Given the description of an element on the screen output the (x, y) to click on. 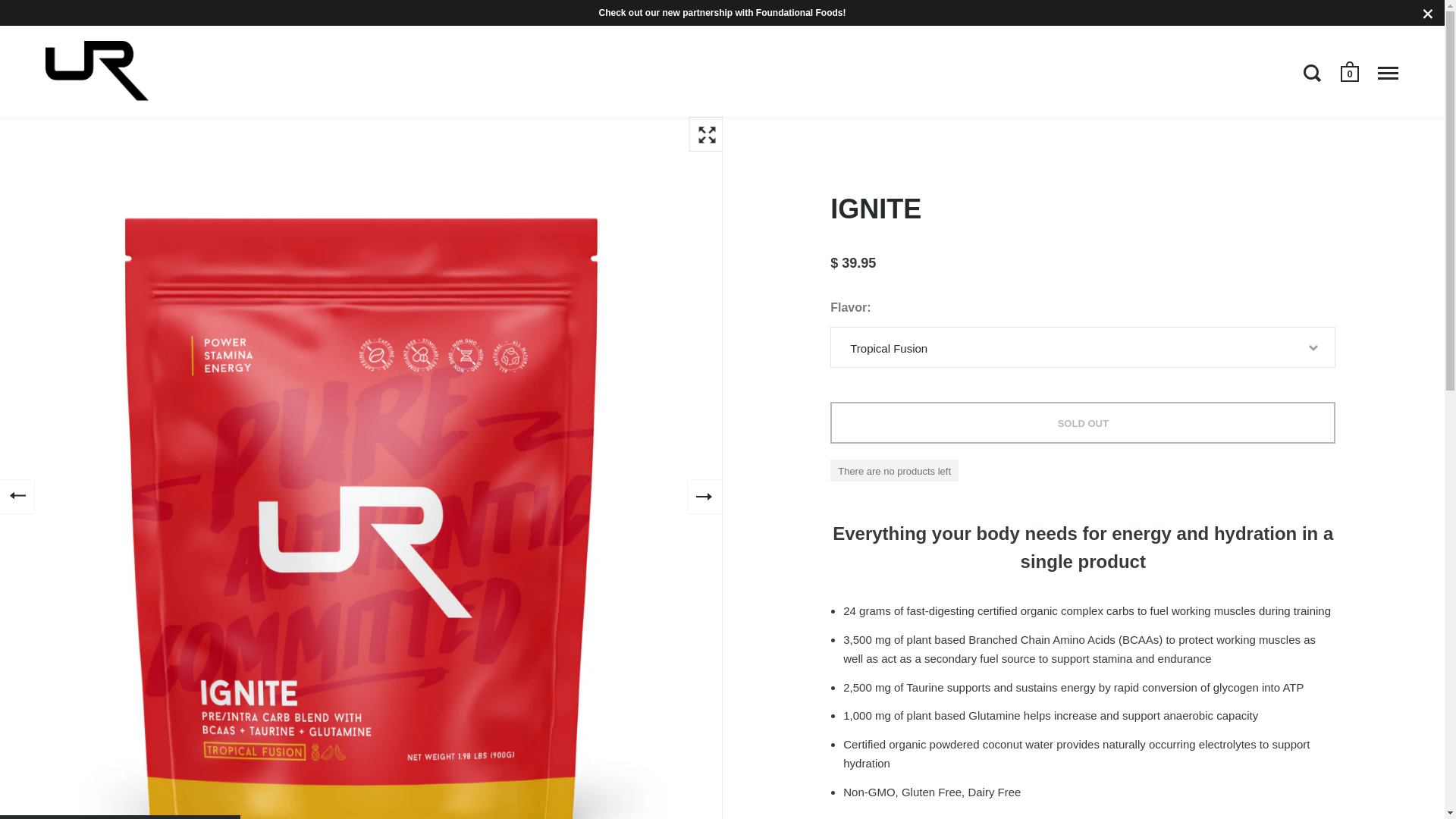
Open cart (1350, 71)
Zoom in (705, 134)
SOLD OUT (1082, 422)
Open menu (1387, 72)
Open search (1313, 72)
